Given the description of an element on the screen output the (x, y) to click on. 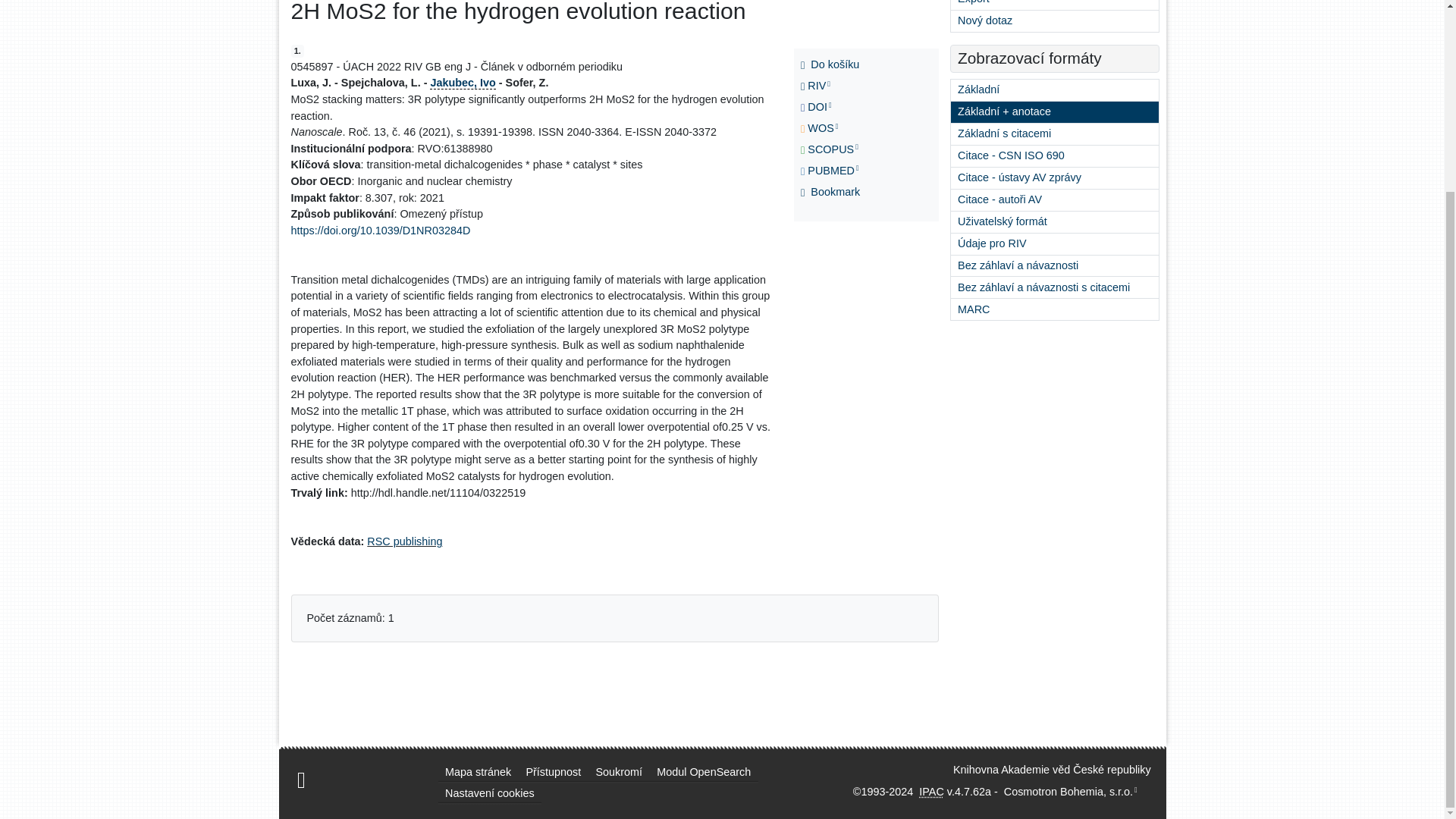
Citace - CSN ISO 690 (1054, 156)
RSC publishing (404, 541)
 RIV (832, 86)
 WOS (832, 128)
Jakubec, Ivo (462, 82)
 SCOPUS (832, 149)
  Bookmark (832, 192)
 DOI (832, 107)
 PUBMED (832, 170)
Export (1054, 4)
